Given the description of an element on the screen output the (x, y) to click on. 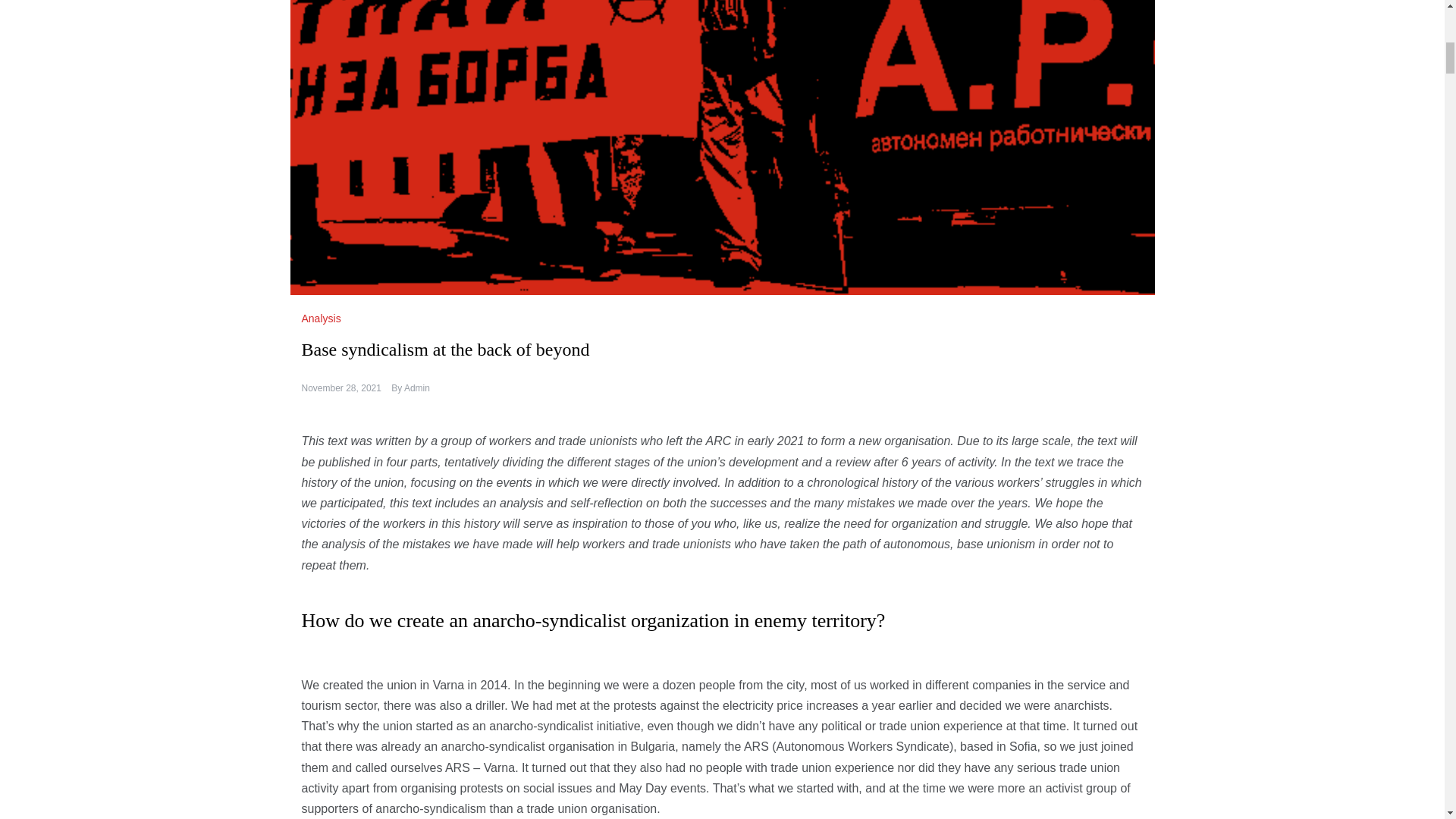
November 28, 2021 (341, 388)
Analysis (323, 318)
Admin (416, 388)
